Given the description of an element on the screen output the (x, y) to click on. 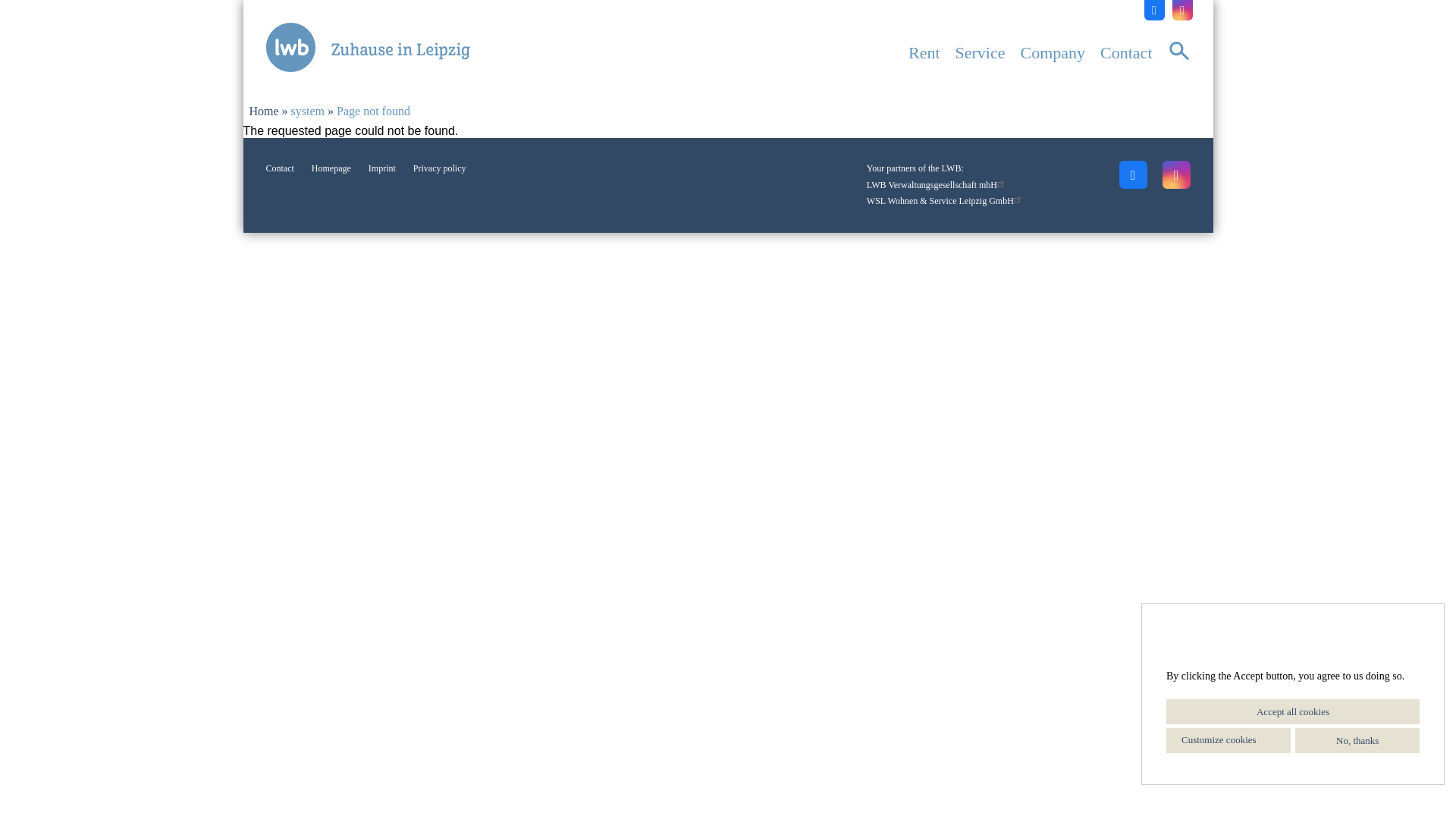
Company (1053, 52)
Rent (924, 52)
Home (370, 47)
Service (980, 52)
